Given the description of an element on the screen output the (x, y) to click on. 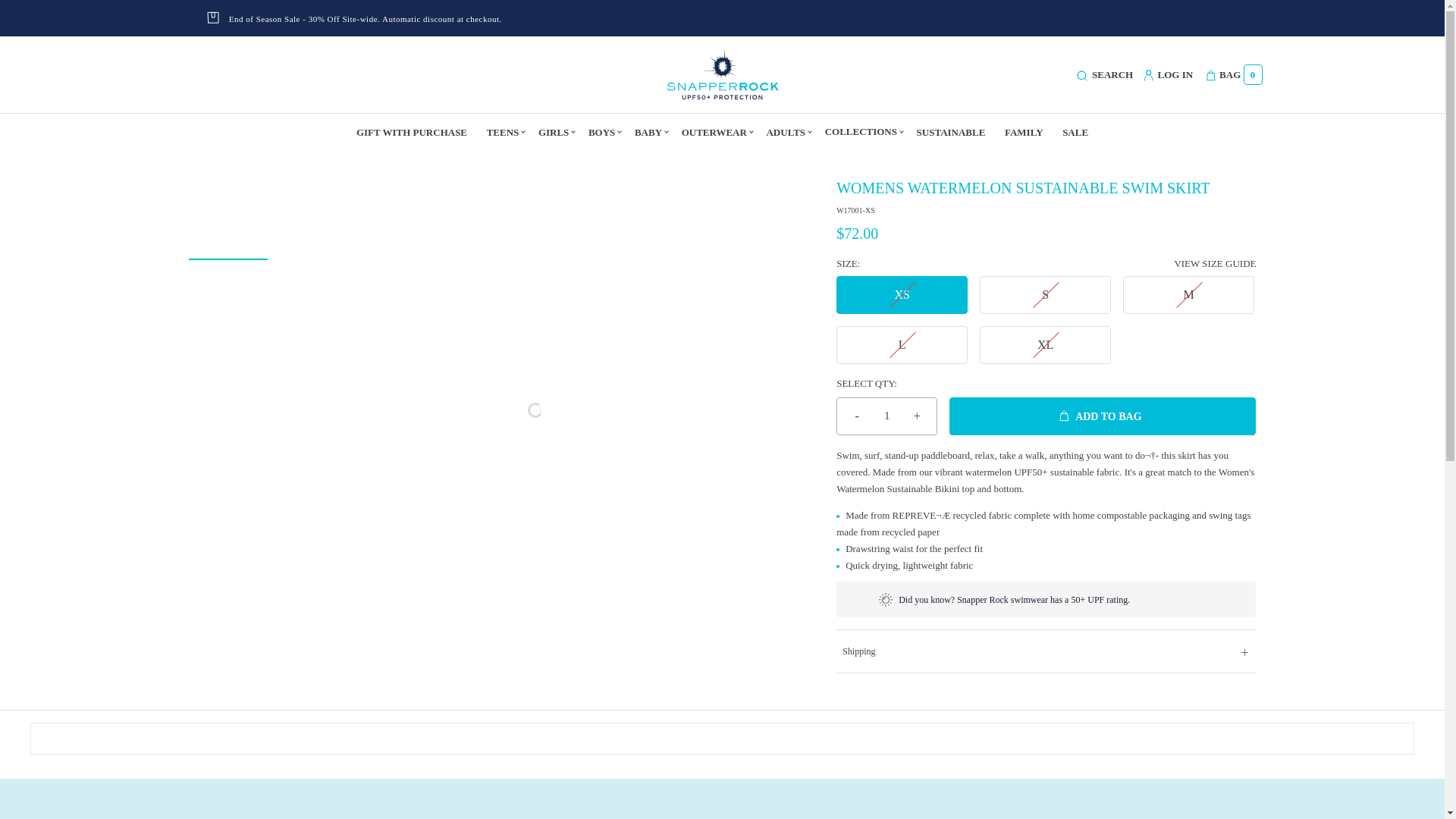
BOYS (601, 131)
SEARCH (1104, 74)
BAG 0 (1230, 74)
LOG IN (1167, 75)
GIFT WITH PURCHASE (411, 131)
GIRLS (553, 131)
